Given the description of an element on the screen output the (x, y) to click on. 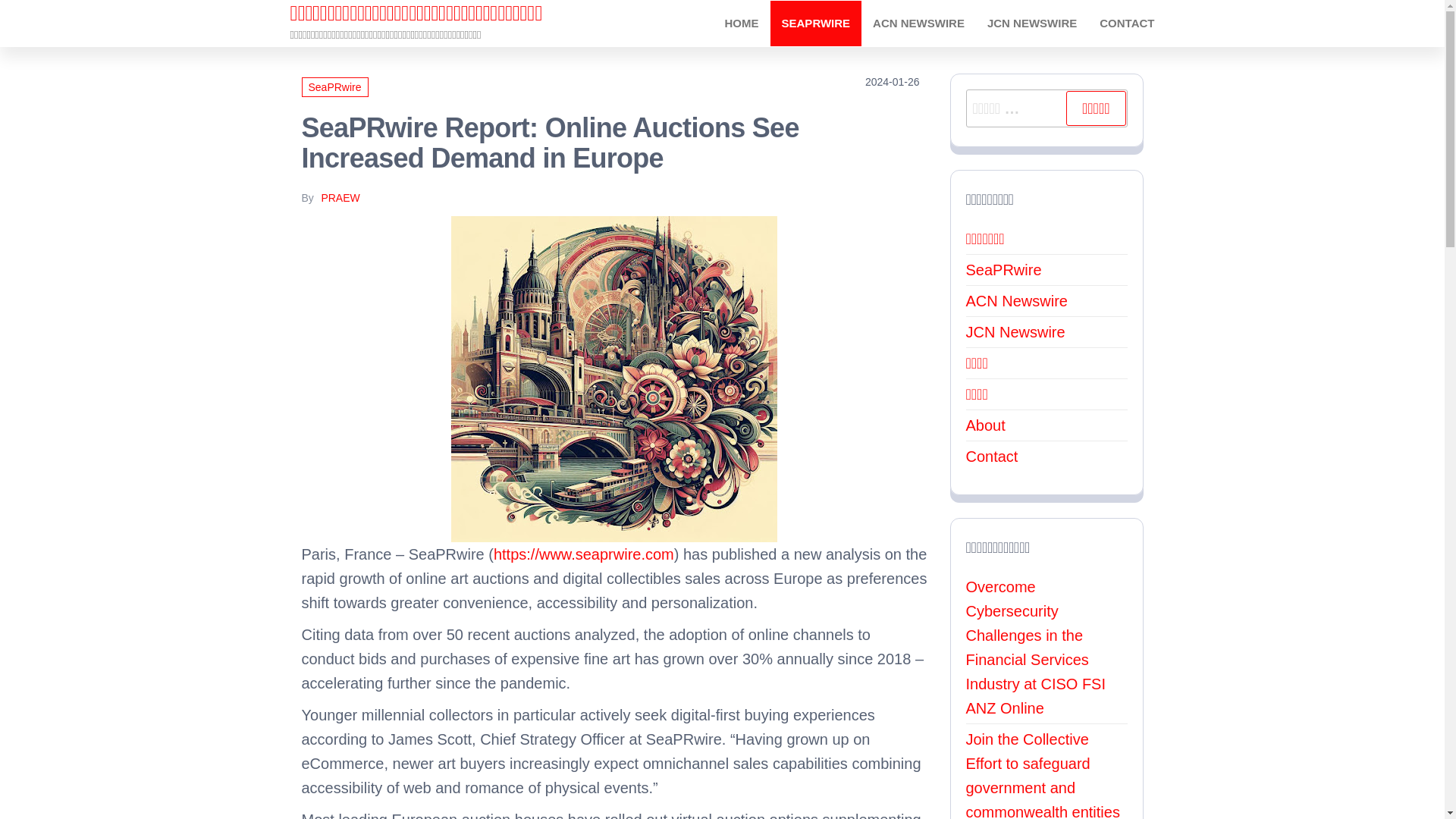
SeaPRwire (815, 22)
ACN NEWSWIRE (918, 22)
Home (741, 22)
SeaPRwire (334, 86)
JCN Newswire (1015, 331)
SeaPRwire (1004, 269)
CONTACT (1126, 22)
SEAPRWIRE (815, 22)
